Given the description of an element on the screen output the (x, y) to click on. 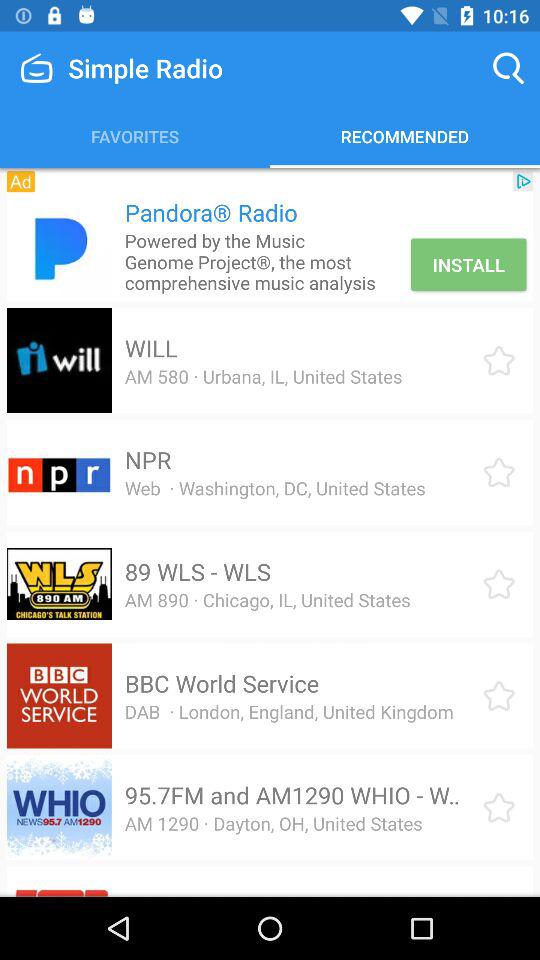
tap the install icon (468, 264)
